Given the description of an element on the screen output the (x, y) to click on. 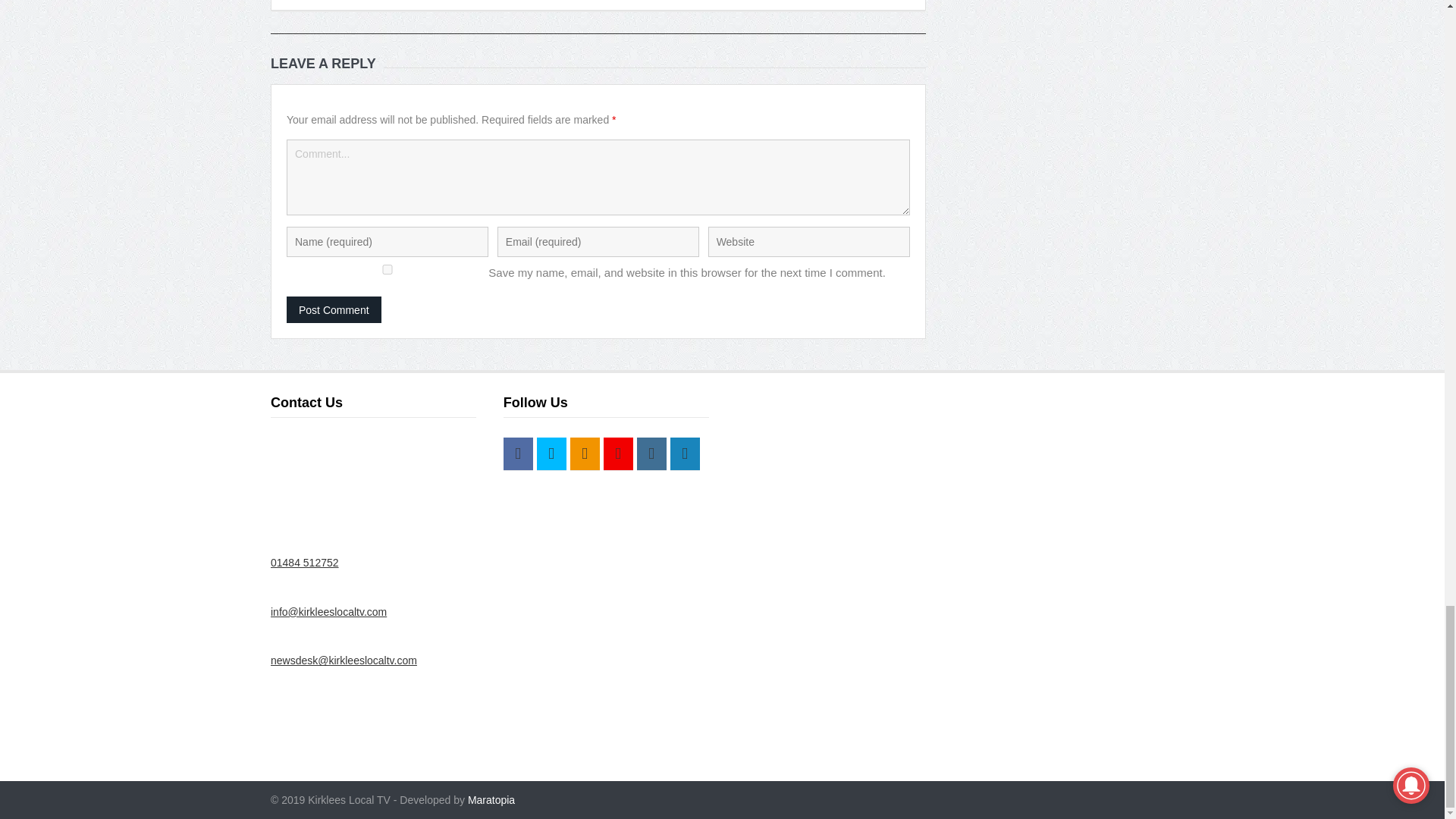
Post Comment (333, 309)
yes (386, 269)
